Given the description of an element on the screen output the (x, y) to click on. 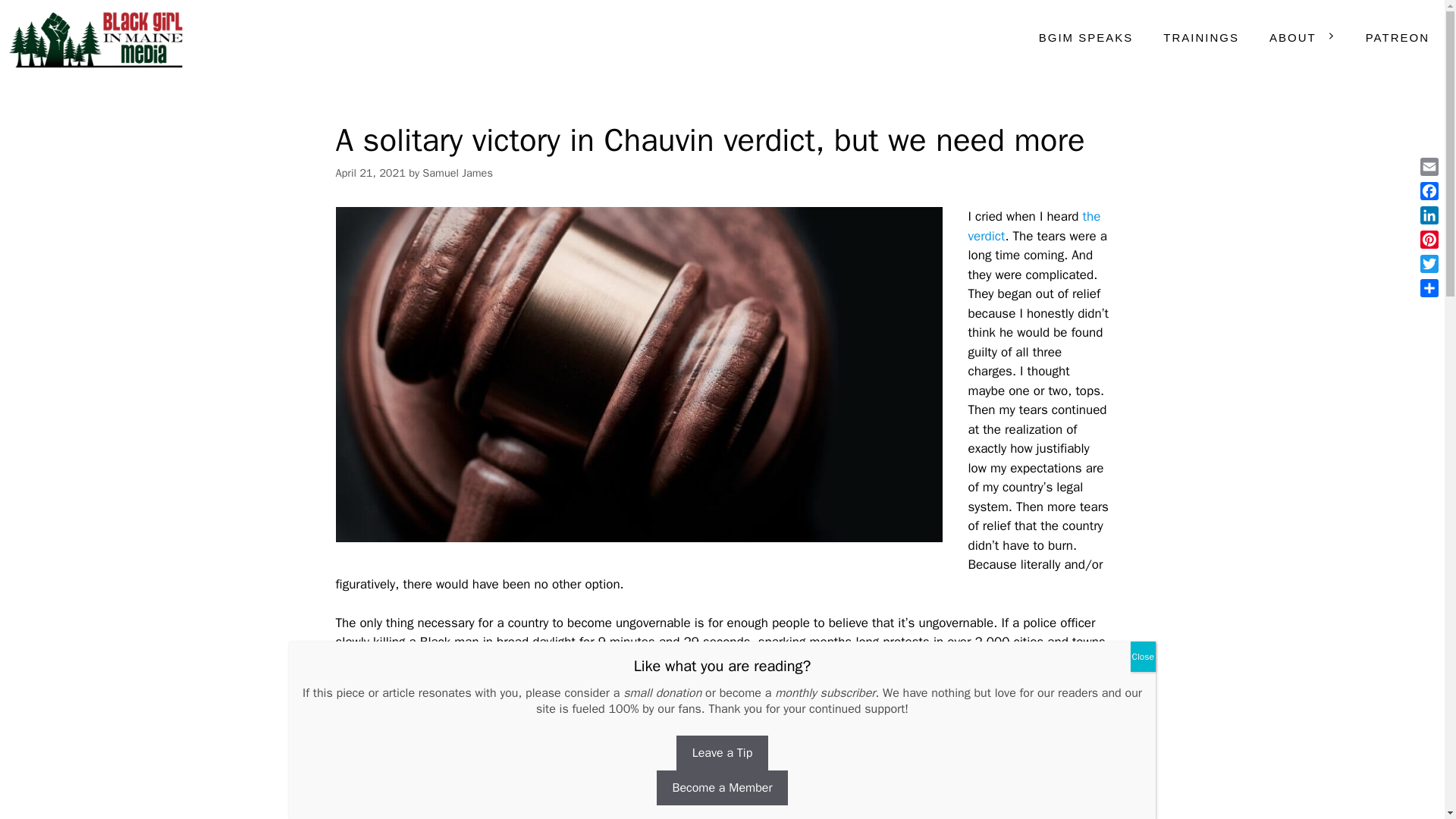
Shay Stewart-Bouley (95, 38)
Pinterest (1428, 239)
LinkedIn (1428, 215)
the verdict (1034, 226)
Facebook (1428, 191)
Email (1428, 166)
Shay Stewart-Bouley (98, 38)
View all posts by Samuel James (457, 172)
BGIM SPEAKS (1085, 37)
Samuel James (457, 172)
ABOUT (1302, 37)
nearly 400 (1021, 738)
TRAININGS (1200, 37)
Twitter (1428, 263)
